Given the description of an element on the screen output the (x, y) to click on. 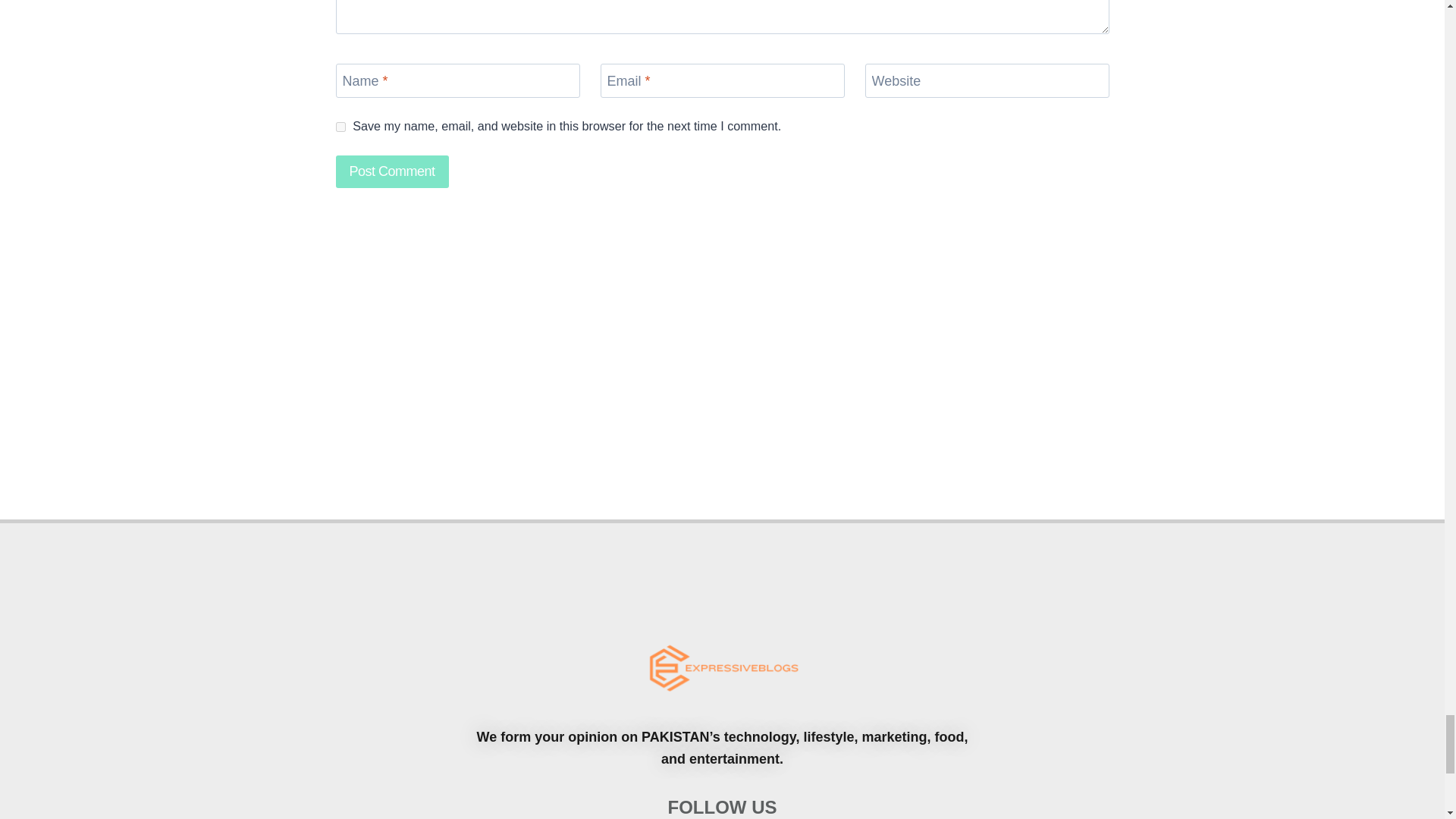
Post Comment (391, 171)
Post Comment (391, 171)
yes (339, 126)
